Given the description of an element on the screen output the (x, y) to click on. 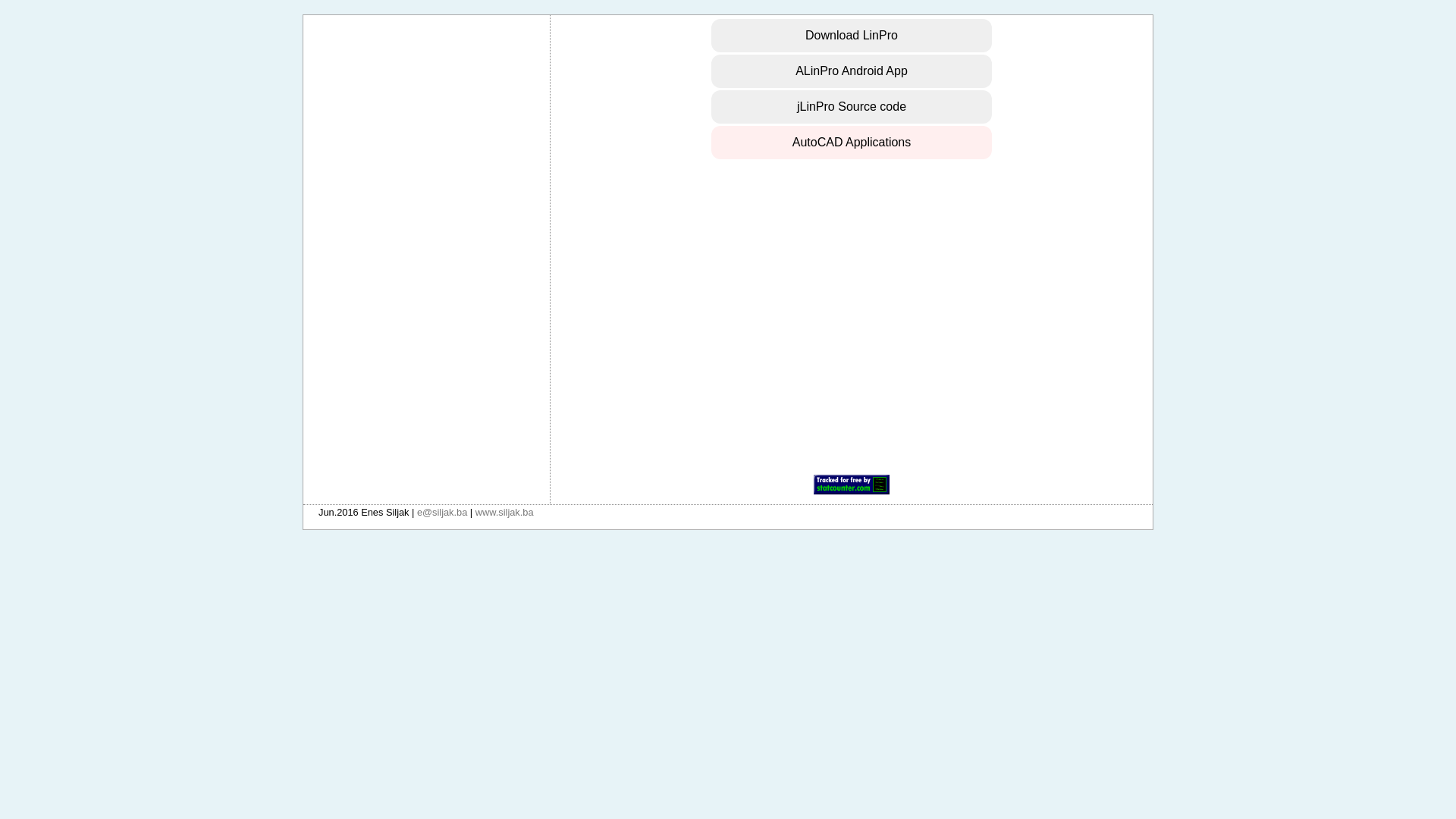
Download LinPro Element type: text (851, 35)
e@siljak.ba Element type: text (442, 511)
www.siljak.ba Element type: text (504, 511)
AutoCAD Applications Element type: text (851, 142)
ALinPro Android App Element type: text (851, 70)
jLinPro Source code Element type: text (851, 106)
